Given the description of an element on the screen output the (x, y) to click on. 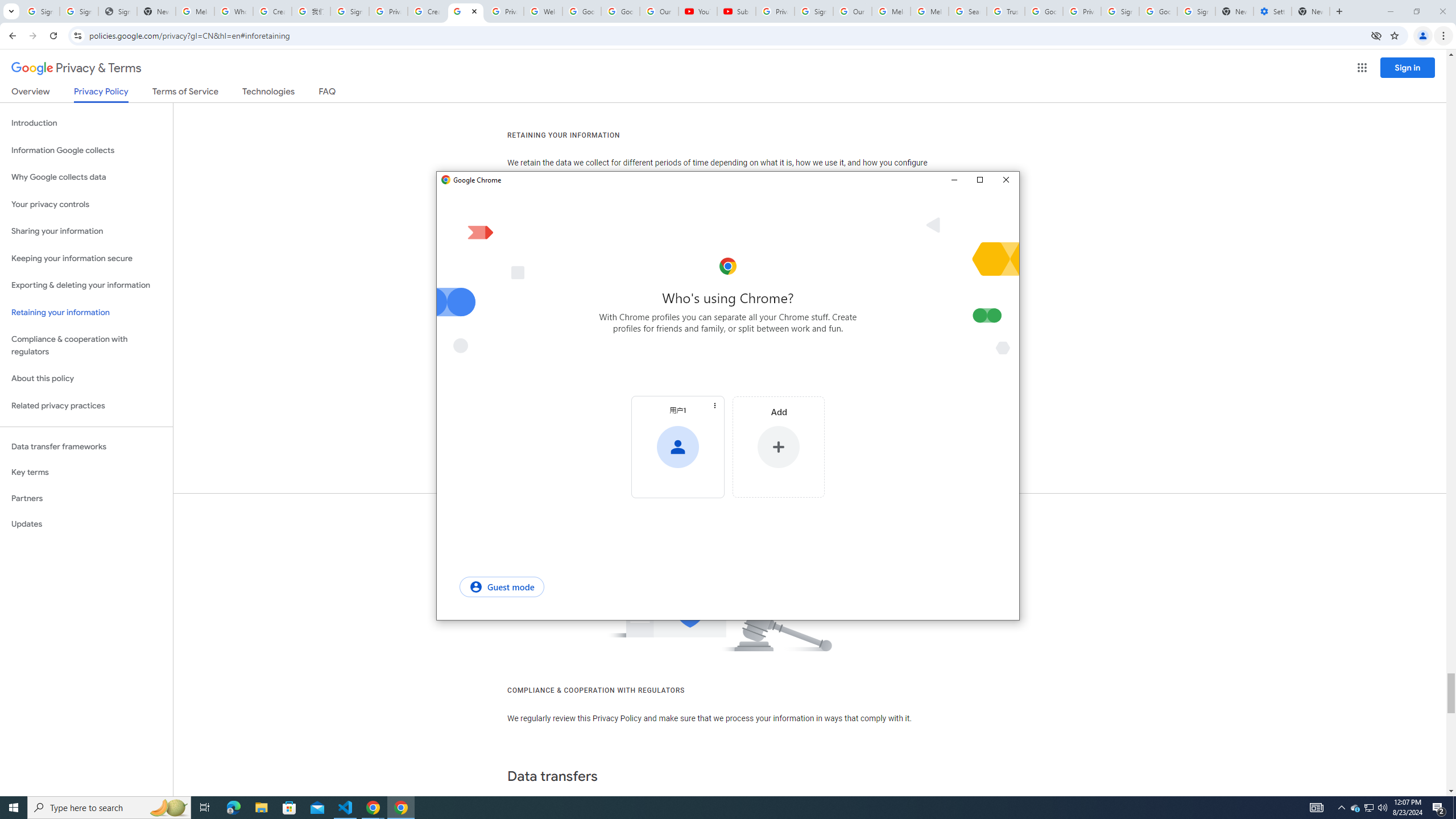
YouTube (697, 11)
Create your Google Account (272, 11)
Add (1355, 807)
Create your Google Account (778, 446)
Information Google collects (427, 11)
Rename your profile (86, 150)
Type here to search (677, 409)
